Given the description of an element on the screen output the (x, y) to click on. 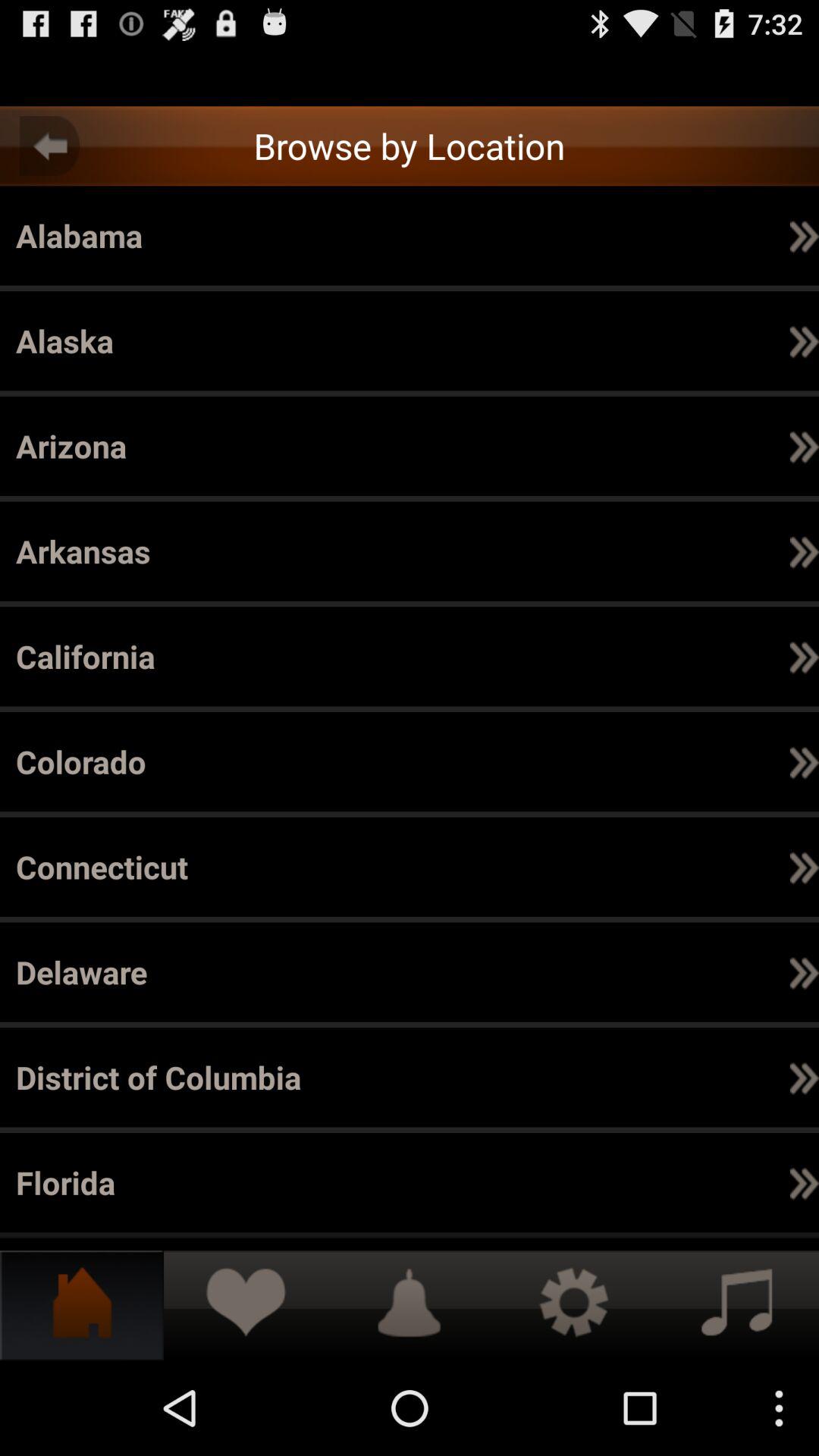
swipe until icon (658, 972)
